Given the description of an element on the screen output the (x, y) to click on. 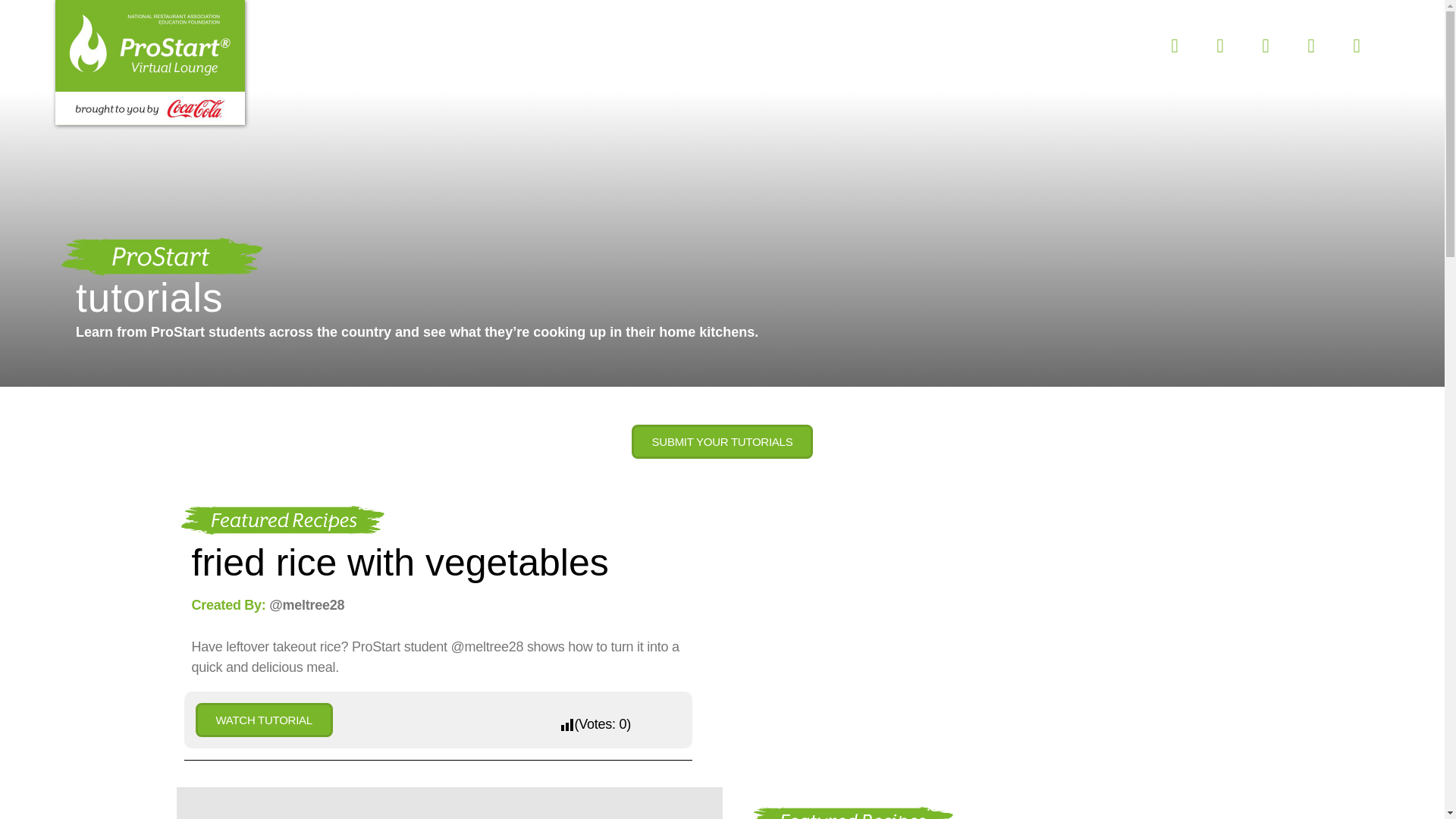
SUBMIT YOUR TUTORIALS (402, 51)
WATCH TUTORIAL (722, 441)
